Given the description of an element on the screen output the (x, y) to click on. 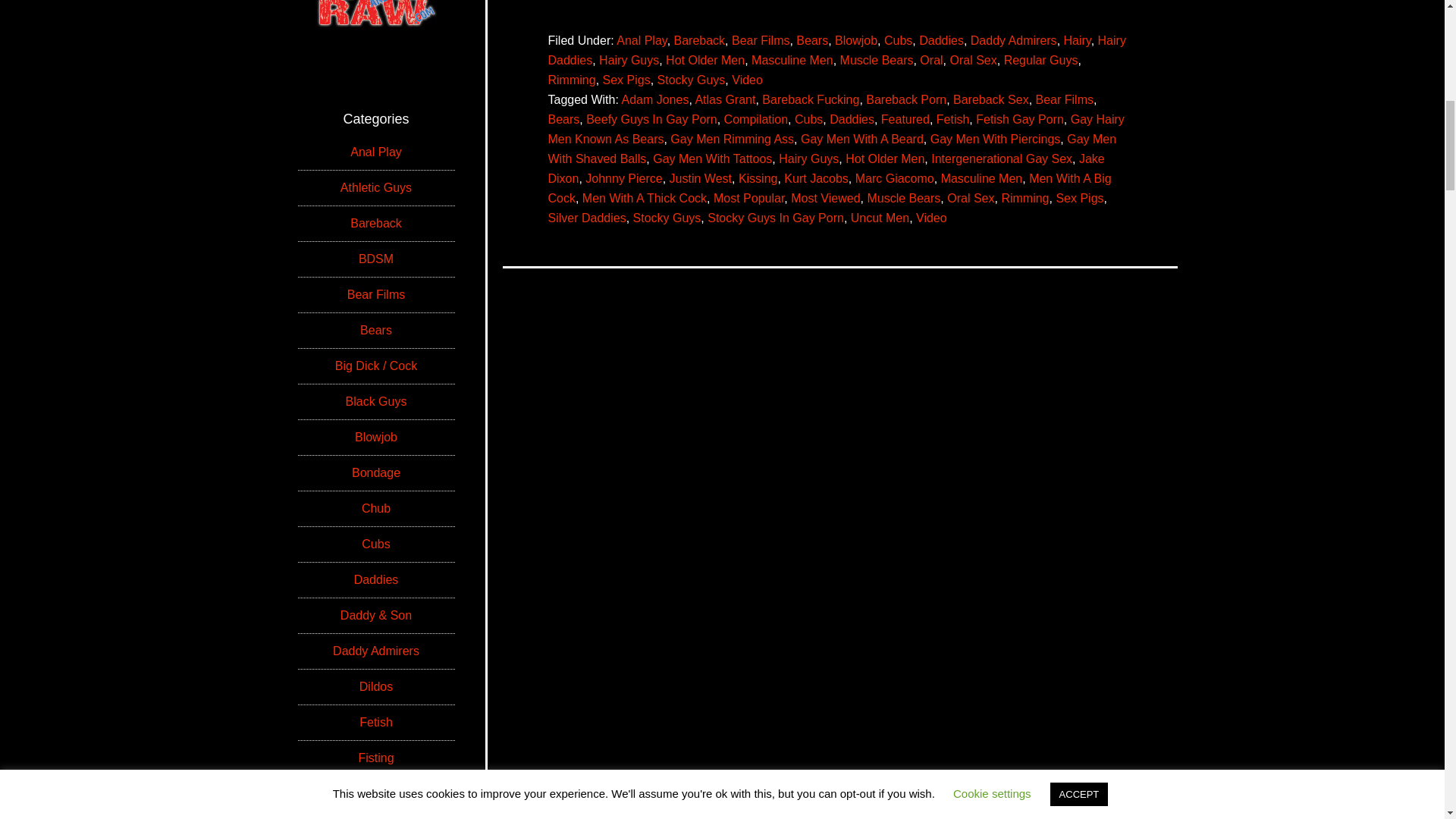
Daddies (852, 119)
Daddy Admirers (1014, 40)
Fetish Gay Porn (1019, 119)
Bear Films (1064, 99)
Featured (905, 119)
Hairy Daddies (836, 50)
Bears (812, 40)
Rimming (571, 79)
Gay Men Rimming Ass (731, 138)
Stocky Guys (691, 79)
Bareback (699, 40)
Hairy (1077, 40)
Gay Hairy Men Known As Bears (835, 129)
Beefy Guys In Gay Porn (651, 119)
Oral (931, 60)
